Given the description of an element on the screen output the (x, y) to click on. 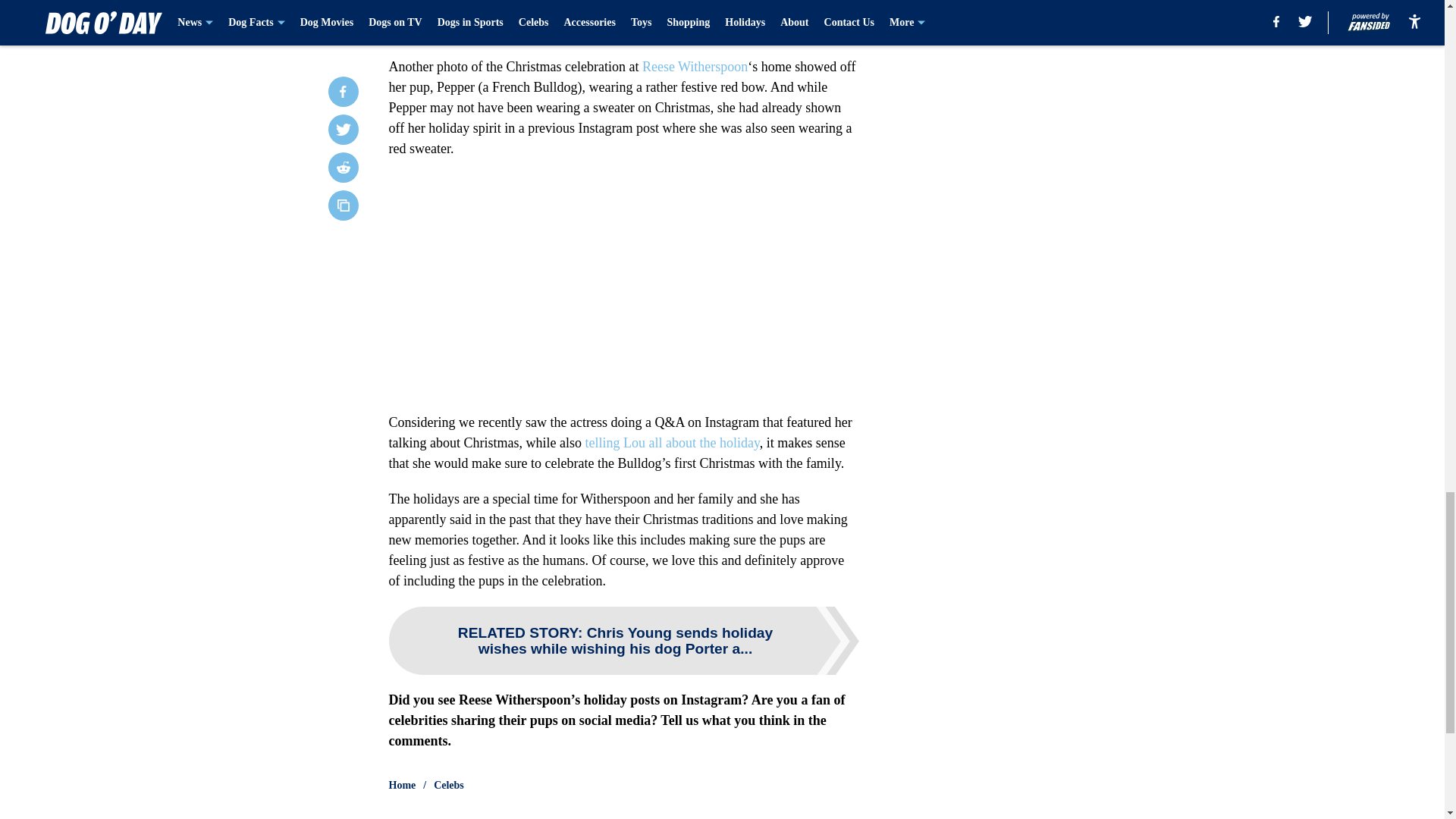
Reese Witherspoon (695, 66)
Celebs (448, 785)
telling Lou all about the holiday (671, 442)
Home (401, 785)
